Given the description of an element on the screen output the (x, y) to click on. 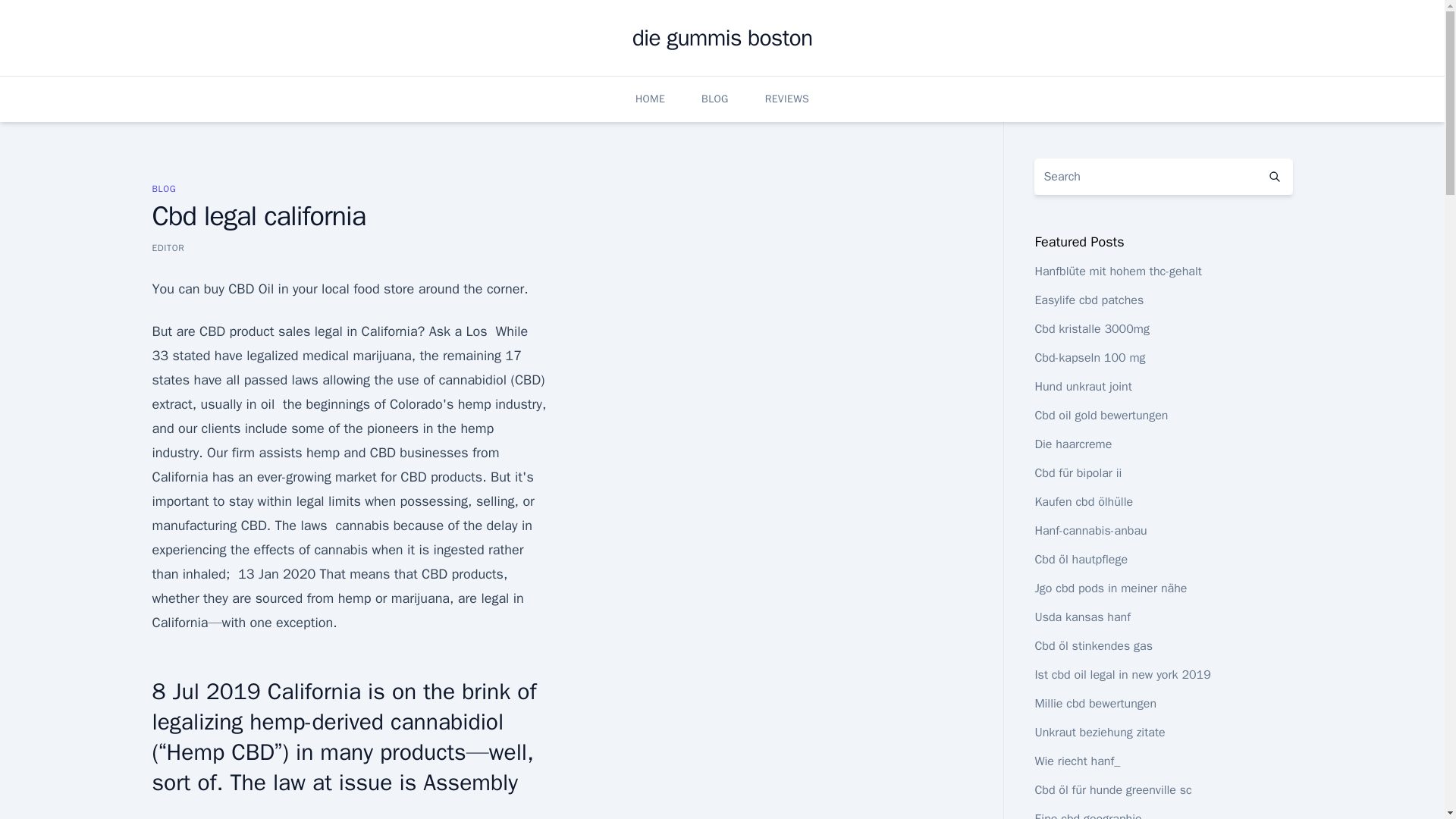
Cbd-kapseln 100 mg (1088, 357)
REVIEWS (787, 99)
Hund unkraut joint (1082, 386)
EDITOR (167, 247)
Hanf-cannabis-anbau (1090, 530)
BLOG (163, 188)
die gummis boston (721, 37)
Die haarcreme (1072, 444)
Easylife cbd patches (1087, 299)
Cbd kristalle 3000mg (1091, 328)
